Given the description of an element on the screen output the (x, y) to click on. 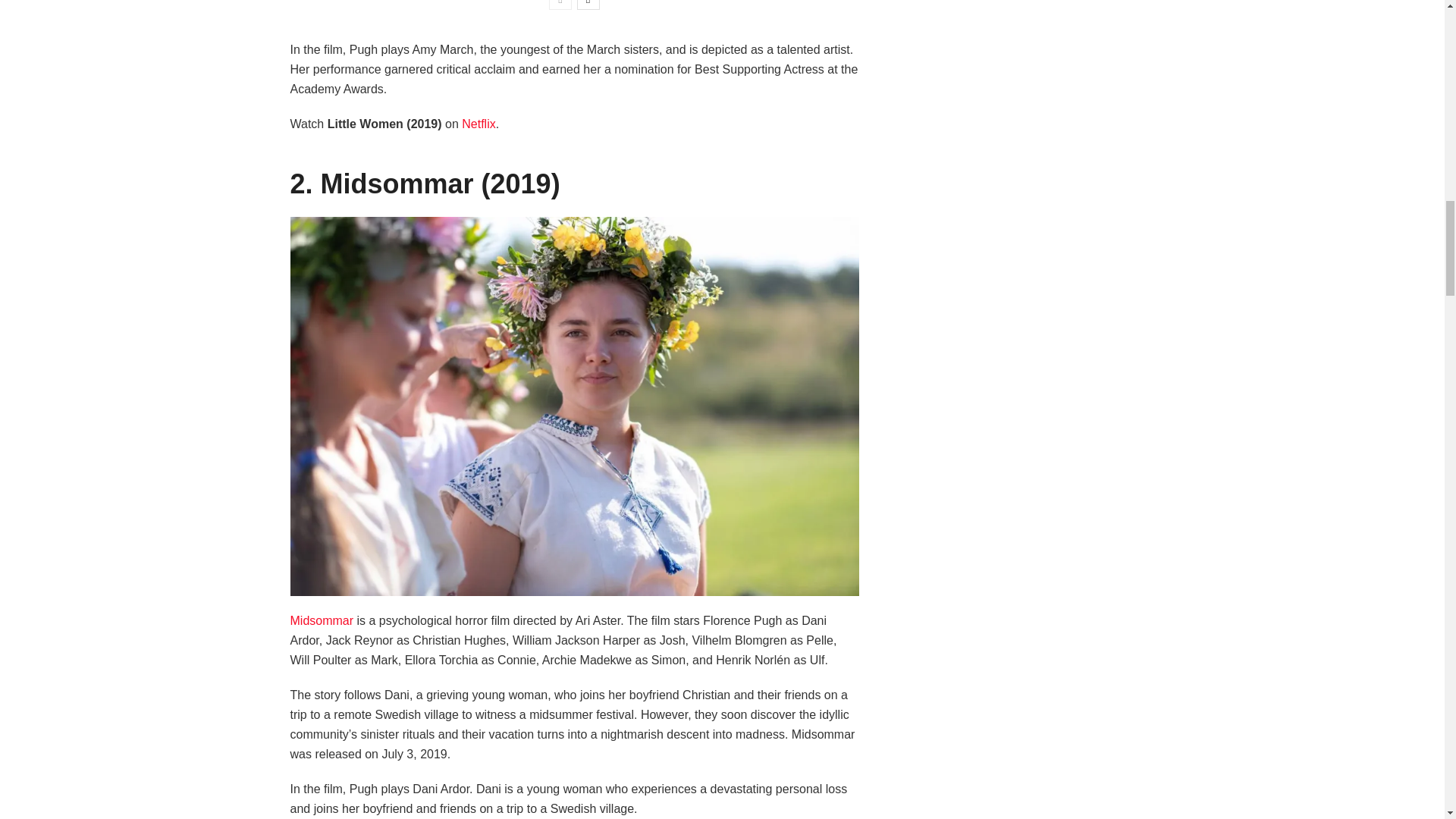
Previous (560, 4)
Next (587, 4)
